Given the description of an element on the screen output the (x, y) to click on. 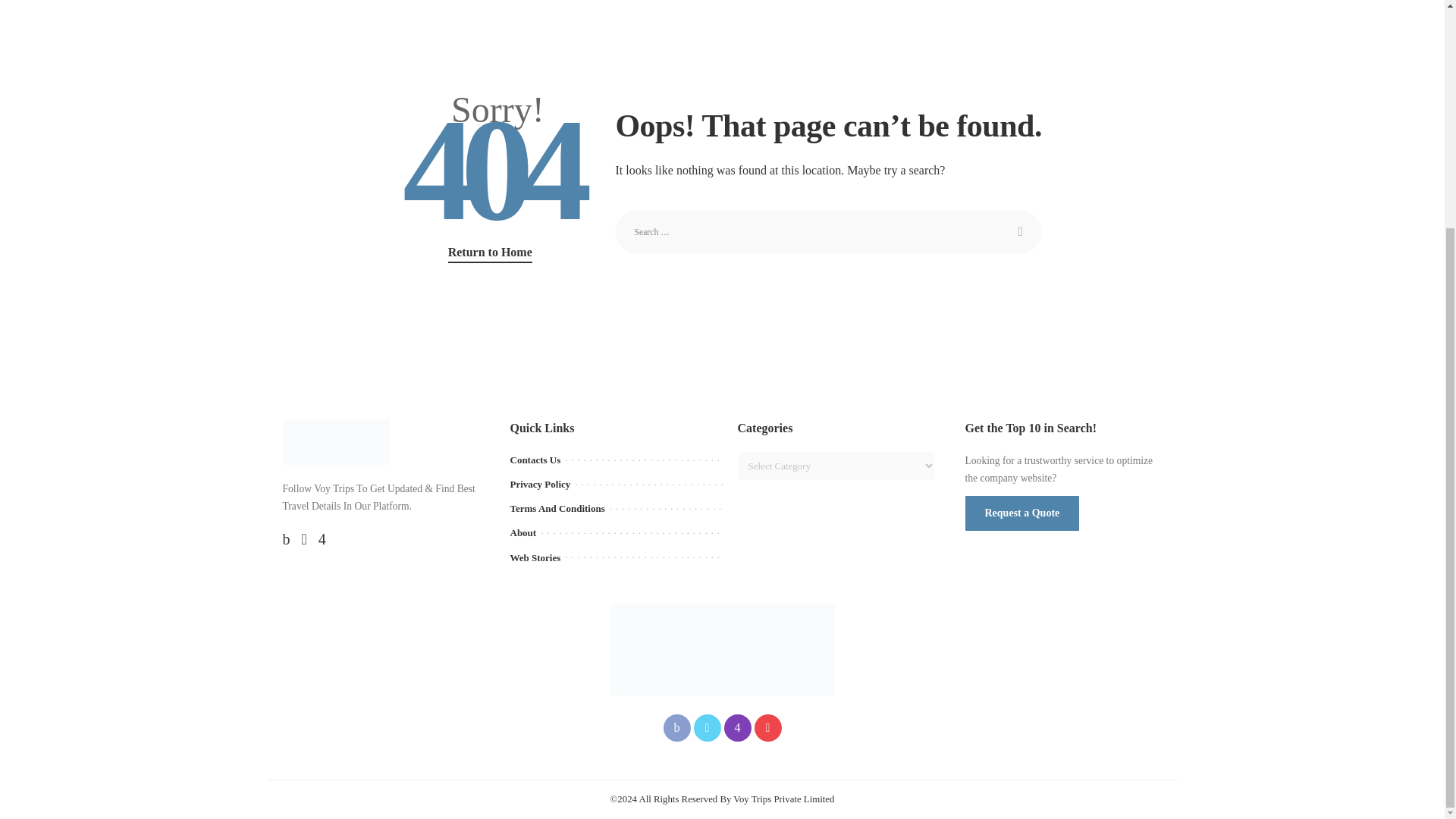
Search (1020, 231)
Return to Home (490, 252)
Search (1020, 231)
